Given the description of an element on the screen output the (x, y) to click on. 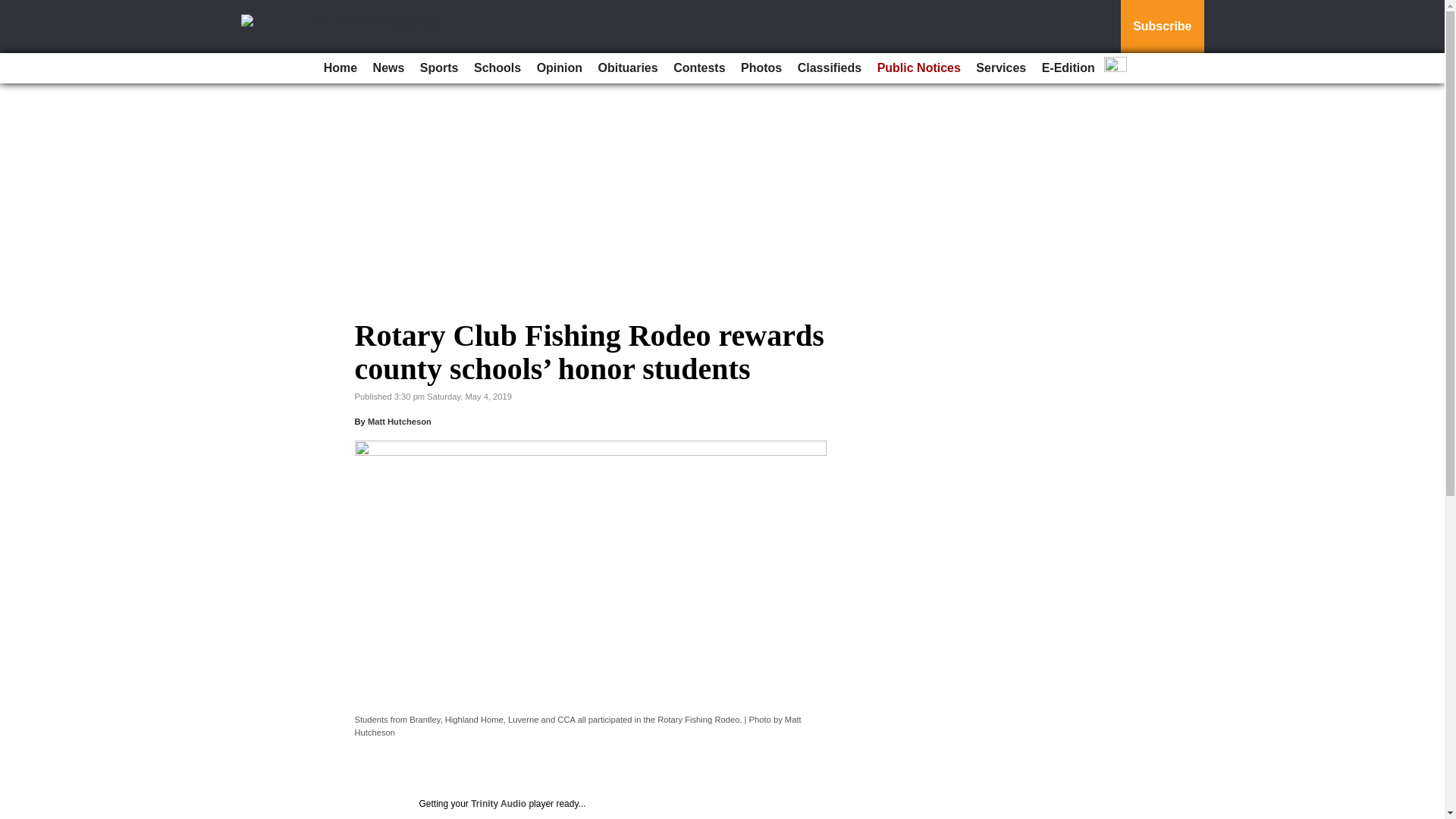
Matt Hutcheson (399, 420)
Go (13, 9)
Sports (438, 68)
Subscribe (1162, 26)
E-Edition (1067, 68)
Trinity Audio (497, 803)
Public Notices (918, 68)
Schools (497, 68)
Photos (761, 68)
Classifieds (829, 68)
